Given the description of an element on the screen output the (x, y) to click on. 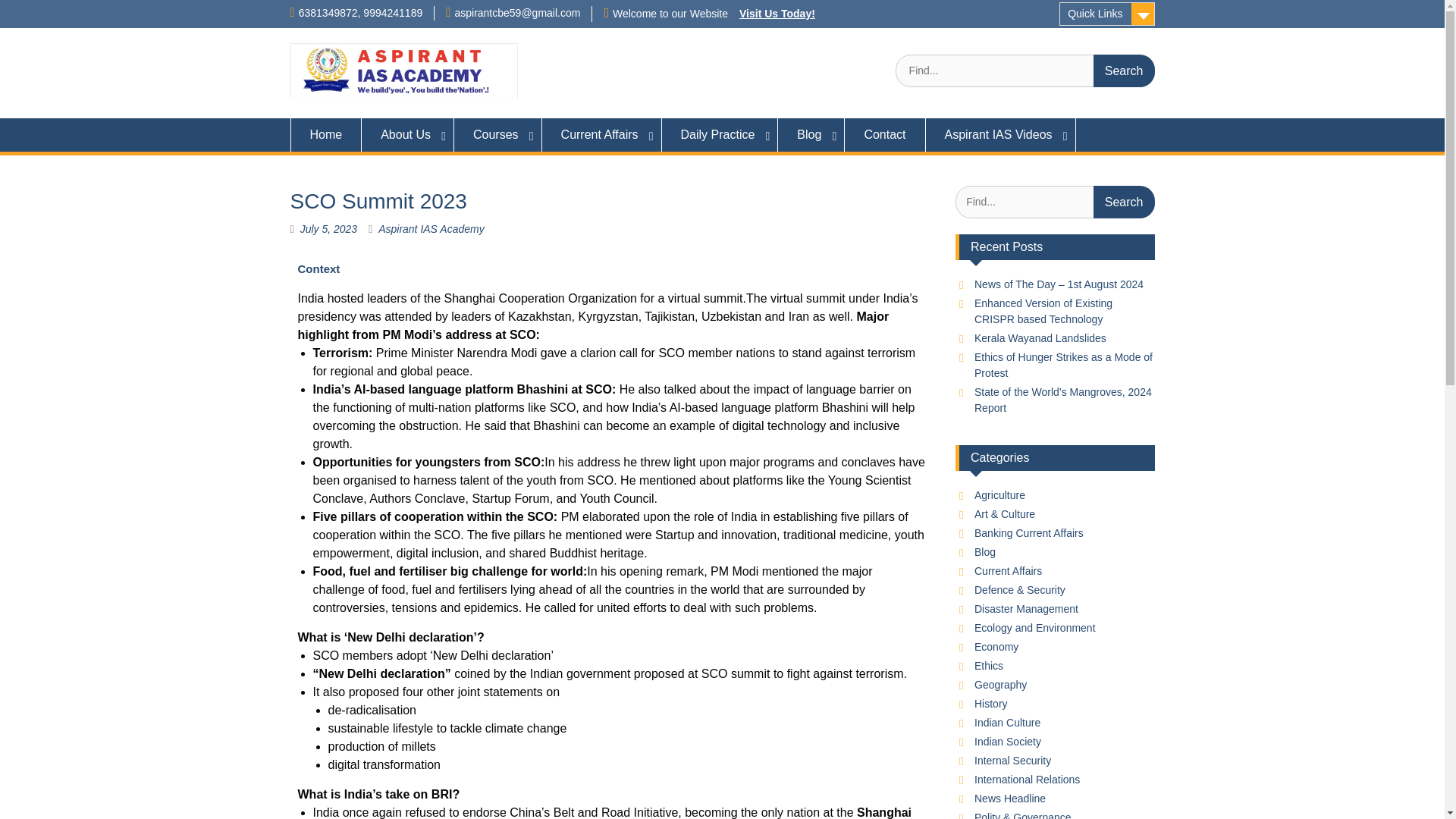
Courses (497, 134)
6381349872, 9994241189 (360, 12)
Search (1123, 70)
Visit Us Today! (777, 13)
Current Affairs (601, 134)
Search (1123, 70)
Home (325, 134)
Search (1123, 201)
Search (1123, 201)
About Us (407, 134)
Search for: (1054, 201)
Search (1123, 70)
Search for: (1024, 70)
Quick Links (1106, 13)
